Given the description of an element on the screen output the (x, y) to click on. 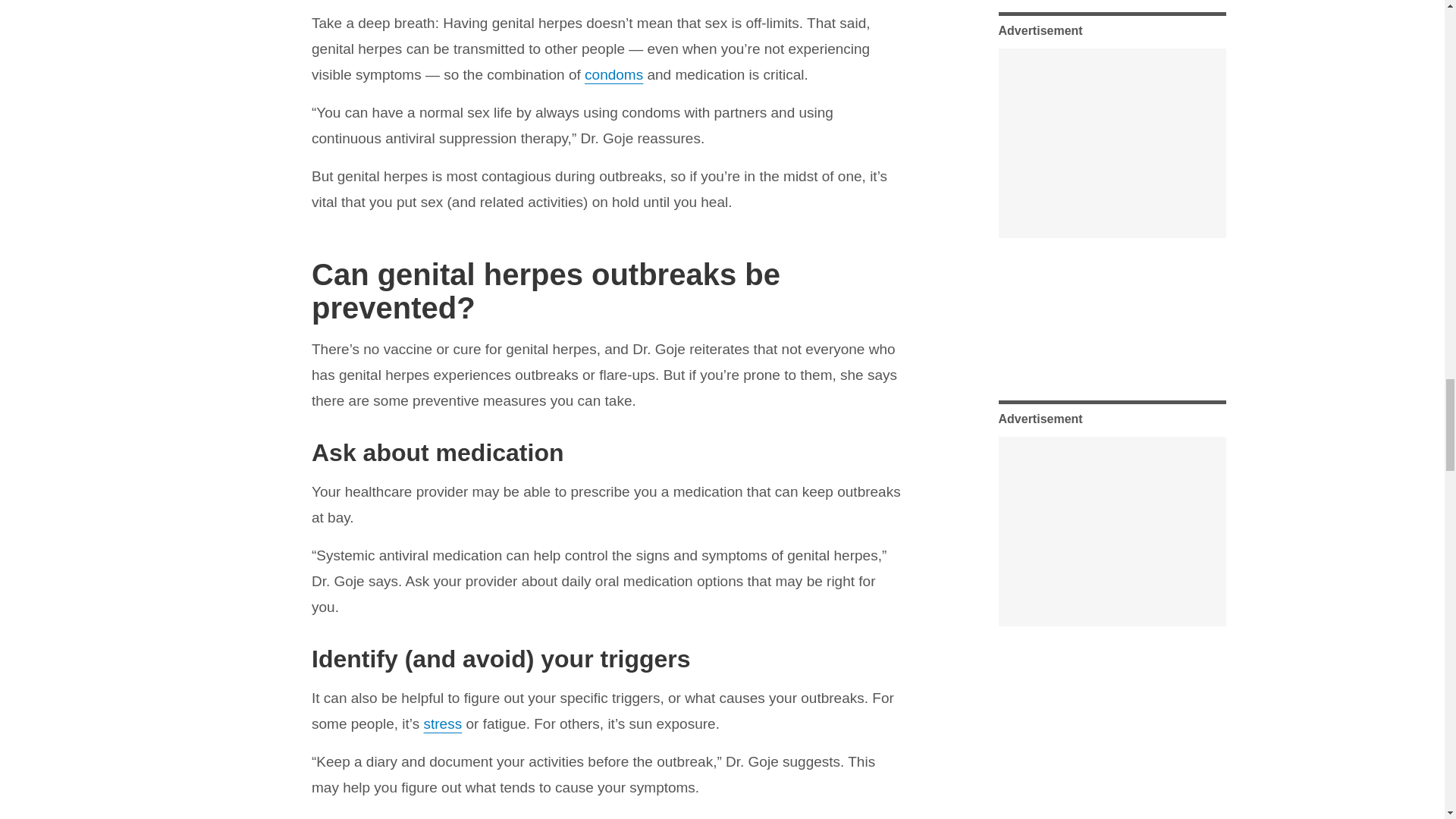
condoms (614, 74)
